Given the description of an element on the screen output the (x, y) to click on. 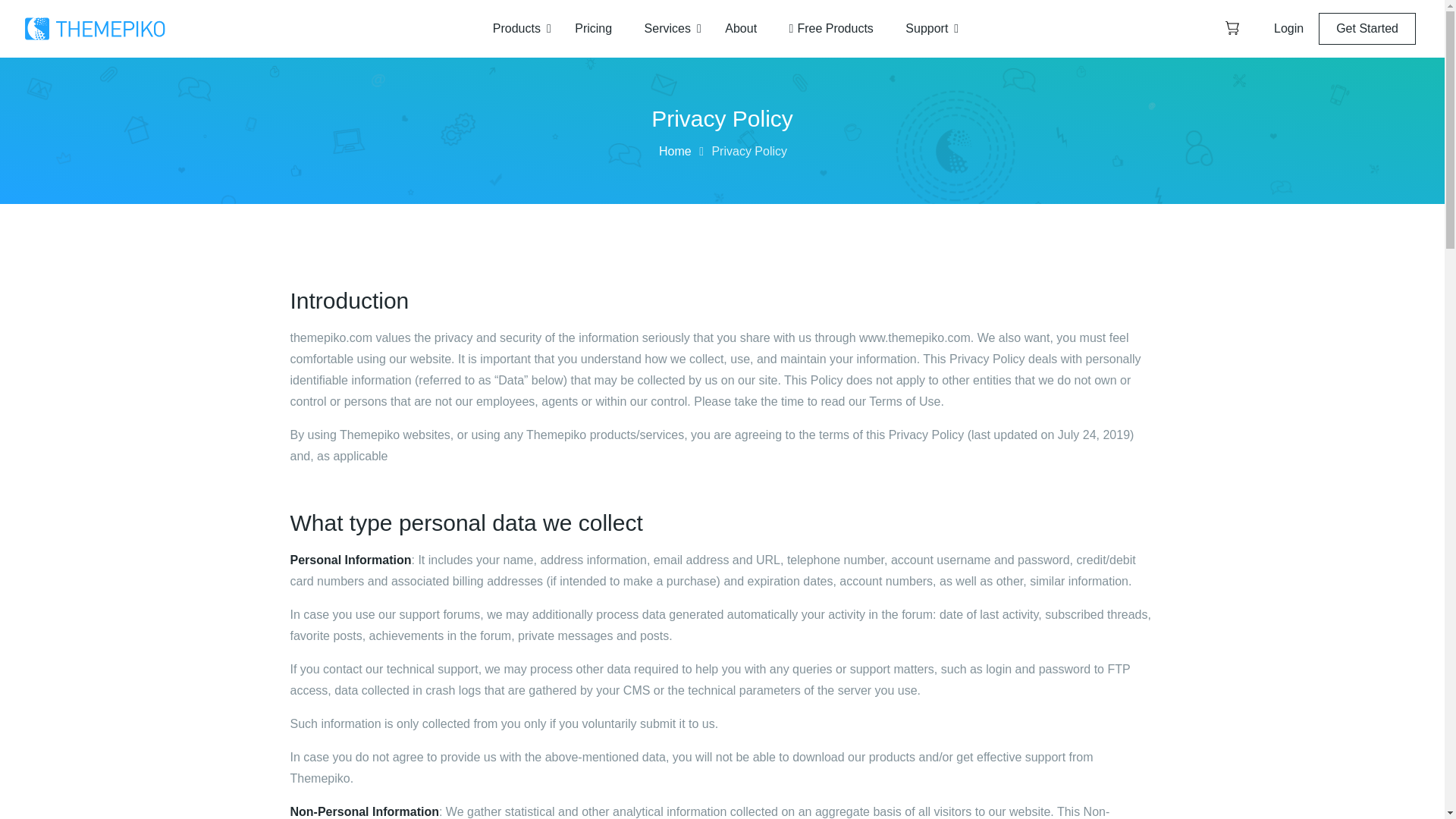
About (740, 28)
Get Started (1367, 29)
Products (518, 28)
Login (1288, 28)
Pricing (593, 28)
Support (927, 28)
Home (675, 151)
Free Products (831, 28)
Services (668, 28)
